Given the description of an element on the screen output the (x, y) to click on. 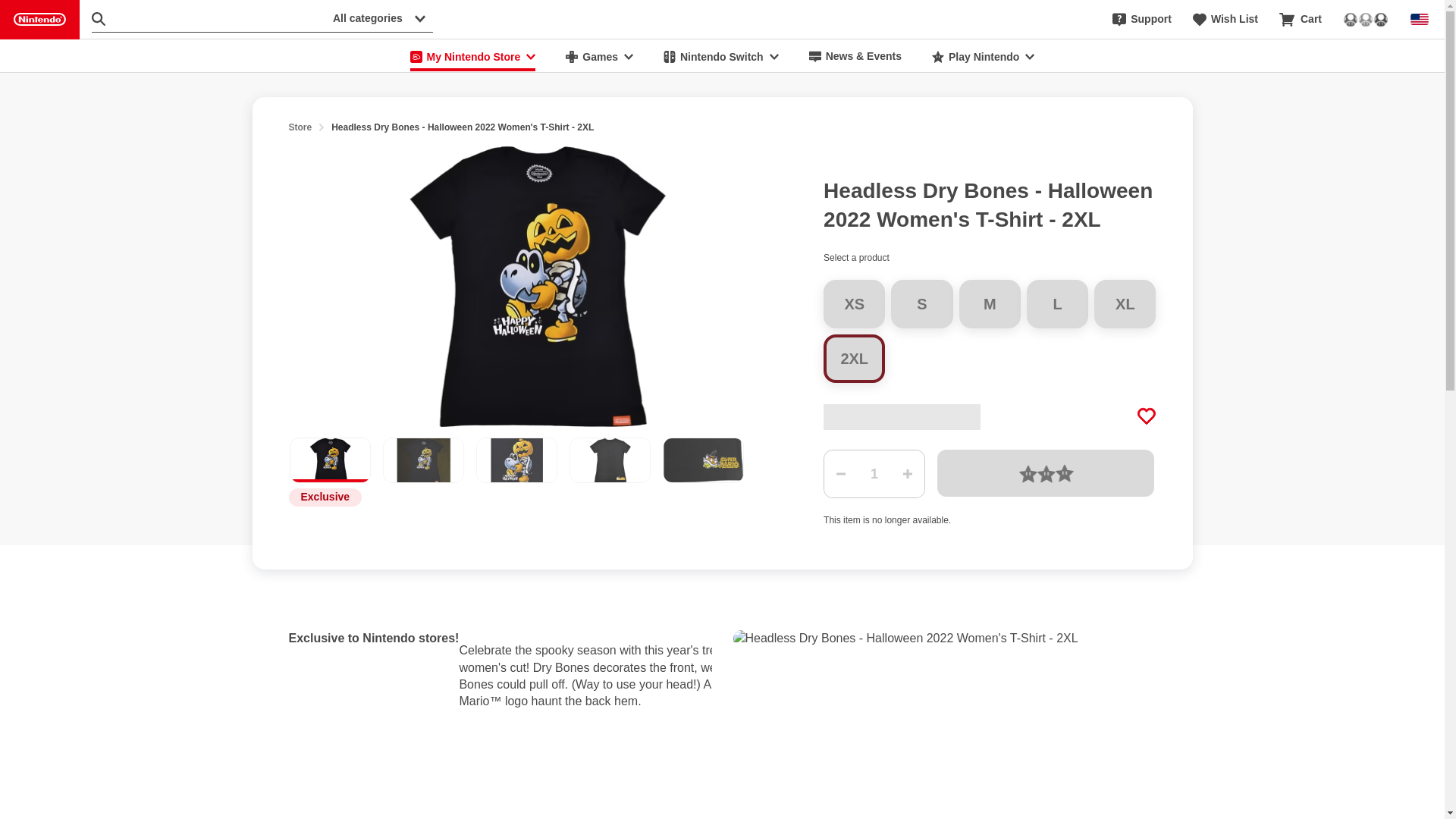
Nintendo (40, 19)
XL (1125, 304)
My Nintendo Store (472, 56)
Cart (1300, 19)
Support (1142, 19)
Games (599, 56)
Store (299, 127)
L (1056, 304)
2XL (854, 358)
S (921, 304)
Add to Wish List (1146, 416)
Play Nintendo (983, 56)
Wish List (1224, 19)
Nintendo Switch (720, 56)
M (989, 304)
